Given the description of an element on the screen output the (x, y) to click on. 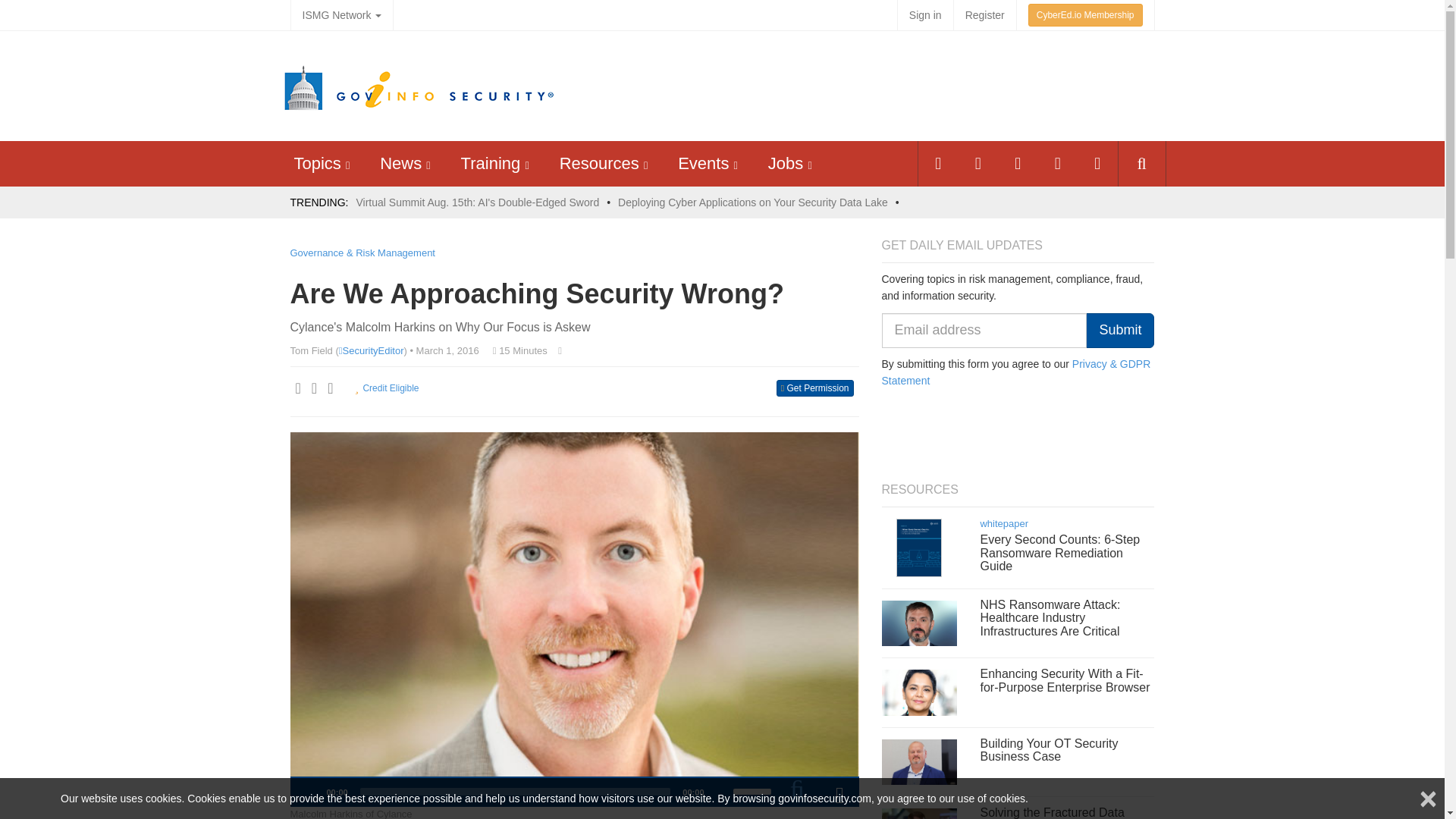
Topics (317, 162)
Register (984, 15)
Sign in (925, 15)
ISMG Network (341, 15)
CyberEd.io Membership (1084, 15)
